Given the description of an element on the screen output the (x, y) to click on. 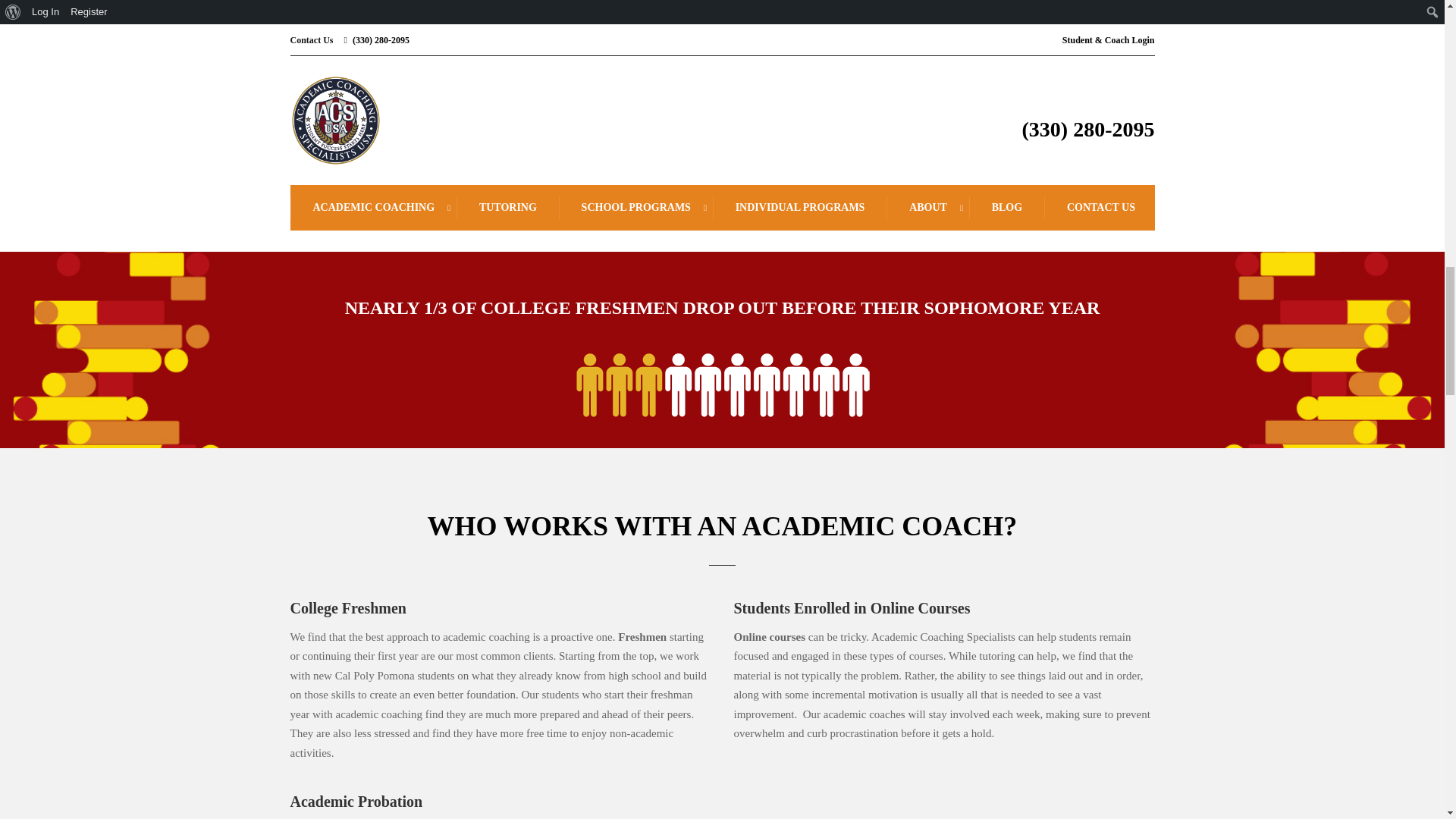
OneThirdGraphic2 (721, 384)
